Given the description of an element on the screen output the (x, y) to click on. 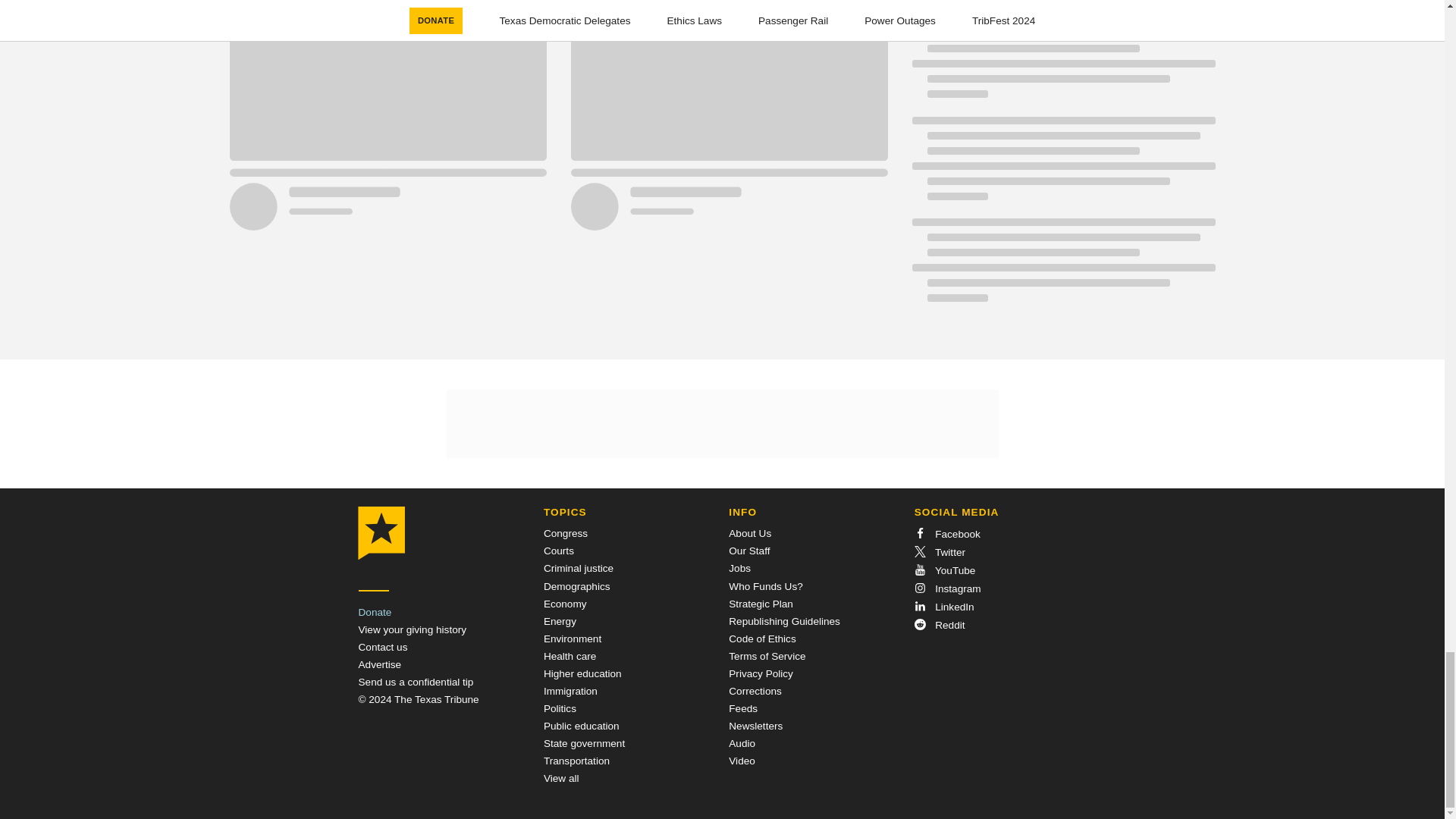
Loading indicator (1062, 63)
Loading indicator (1062, 267)
Donate (374, 612)
View your giving history (411, 629)
Corrections (755, 690)
Video (742, 760)
Audio (742, 743)
Contact us (382, 646)
Loading indicator (1062, 166)
Newsletters (756, 726)
Republishing Guidelines (784, 621)
Send a Tip (415, 681)
Facebook (946, 533)
Strategic Plan (761, 603)
Who Funds Us? (765, 585)
